Given the description of an element on the screen output the (x, y) to click on. 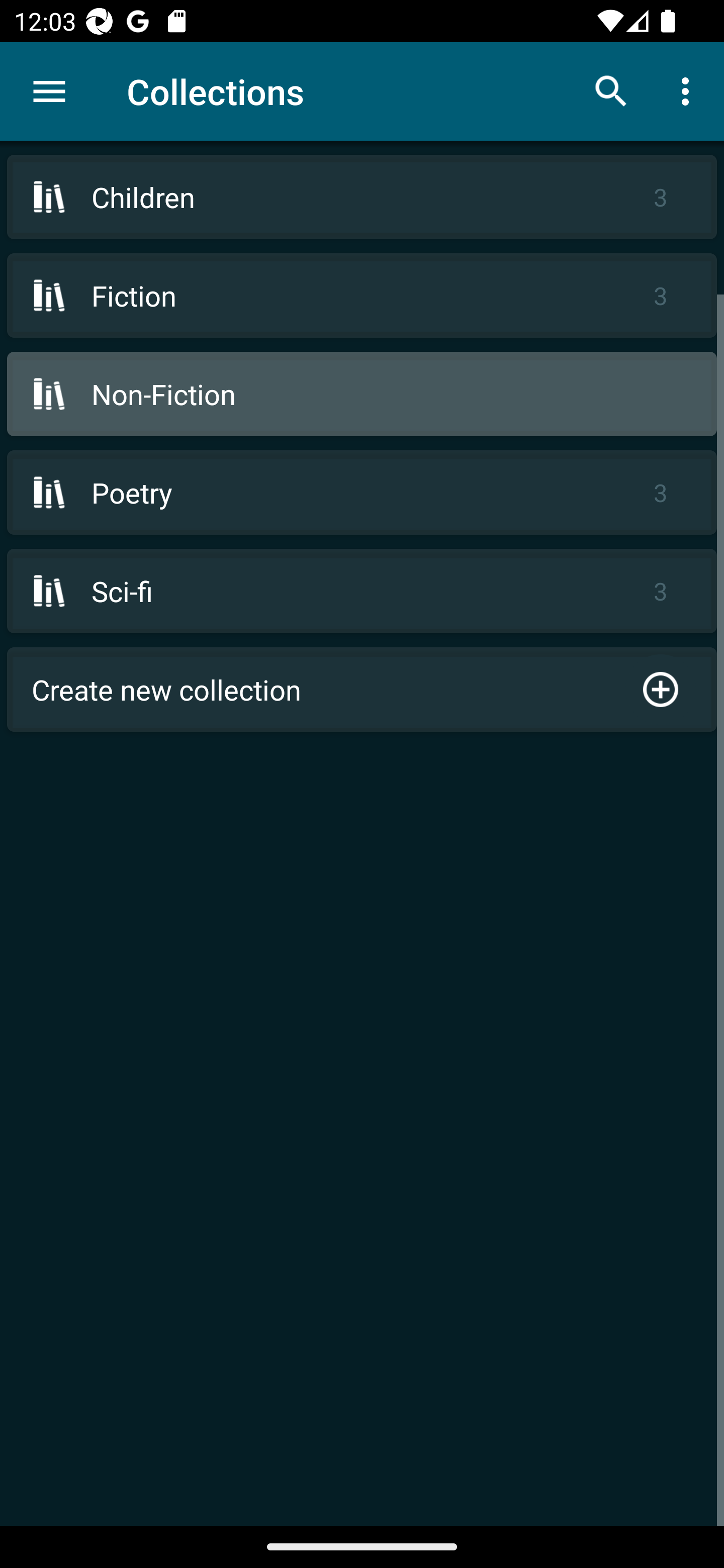
Menu (49, 91)
Search books & documents (611, 90)
More options (688, 90)
Children 3 (361, 197)
Fiction 3 (361, 295)
Non-Fiction (361, 393)
Poetry 3 (361, 492)
Sci-fi 3 (361, 590)
Create new collection (361, 689)
